Given the description of an element on the screen output the (x, y) to click on. 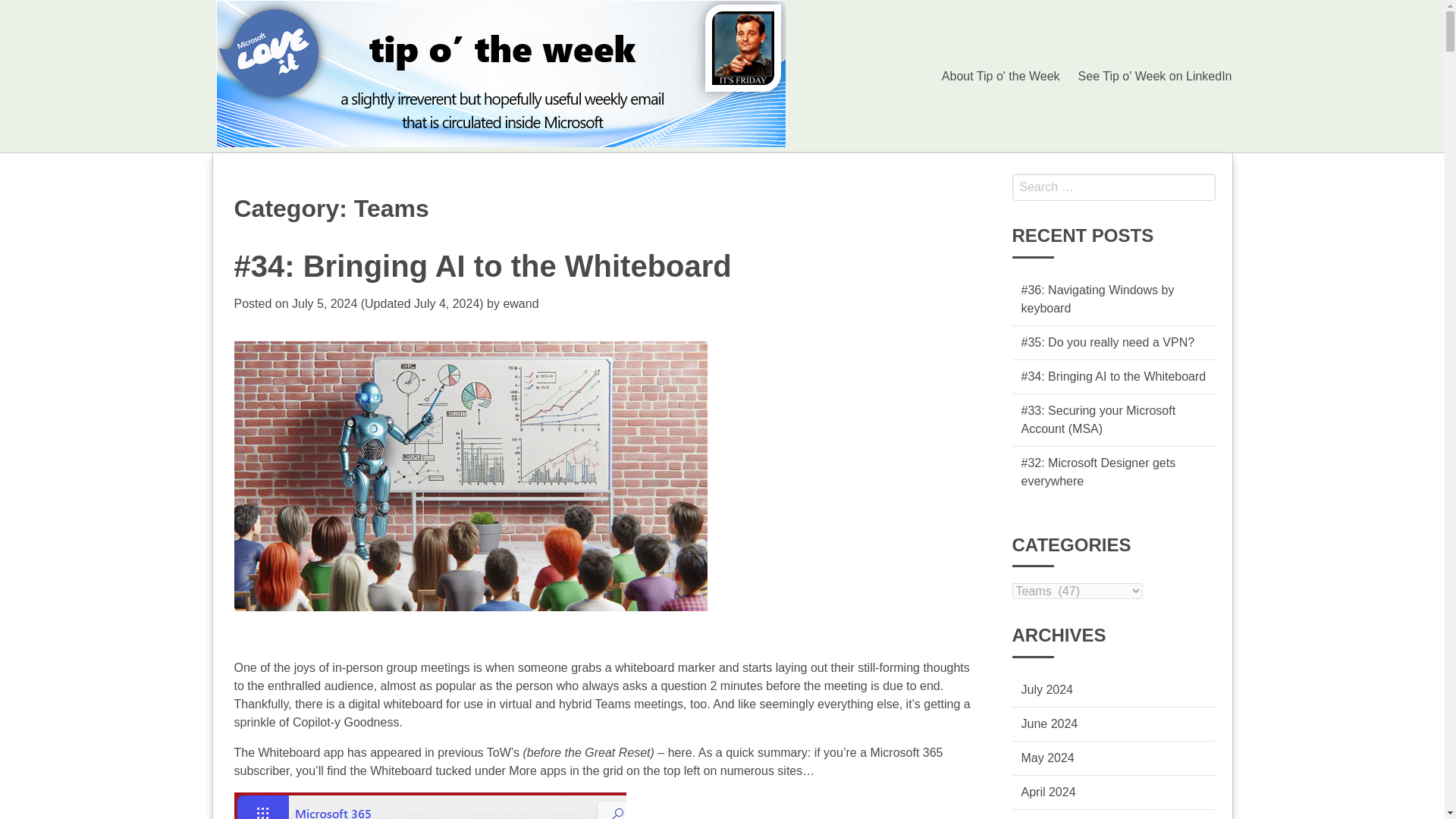
Copilot-y Goodness (345, 721)
here (680, 752)
ewand (520, 303)
Great Reset (617, 752)
See Tip o' Week on LinkedIn (1154, 75)
still-forming (888, 667)
About Tip o' the Week (1000, 75)
the enthralled audience (309, 685)
